Given the description of an element on the screen output the (x, y) to click on. 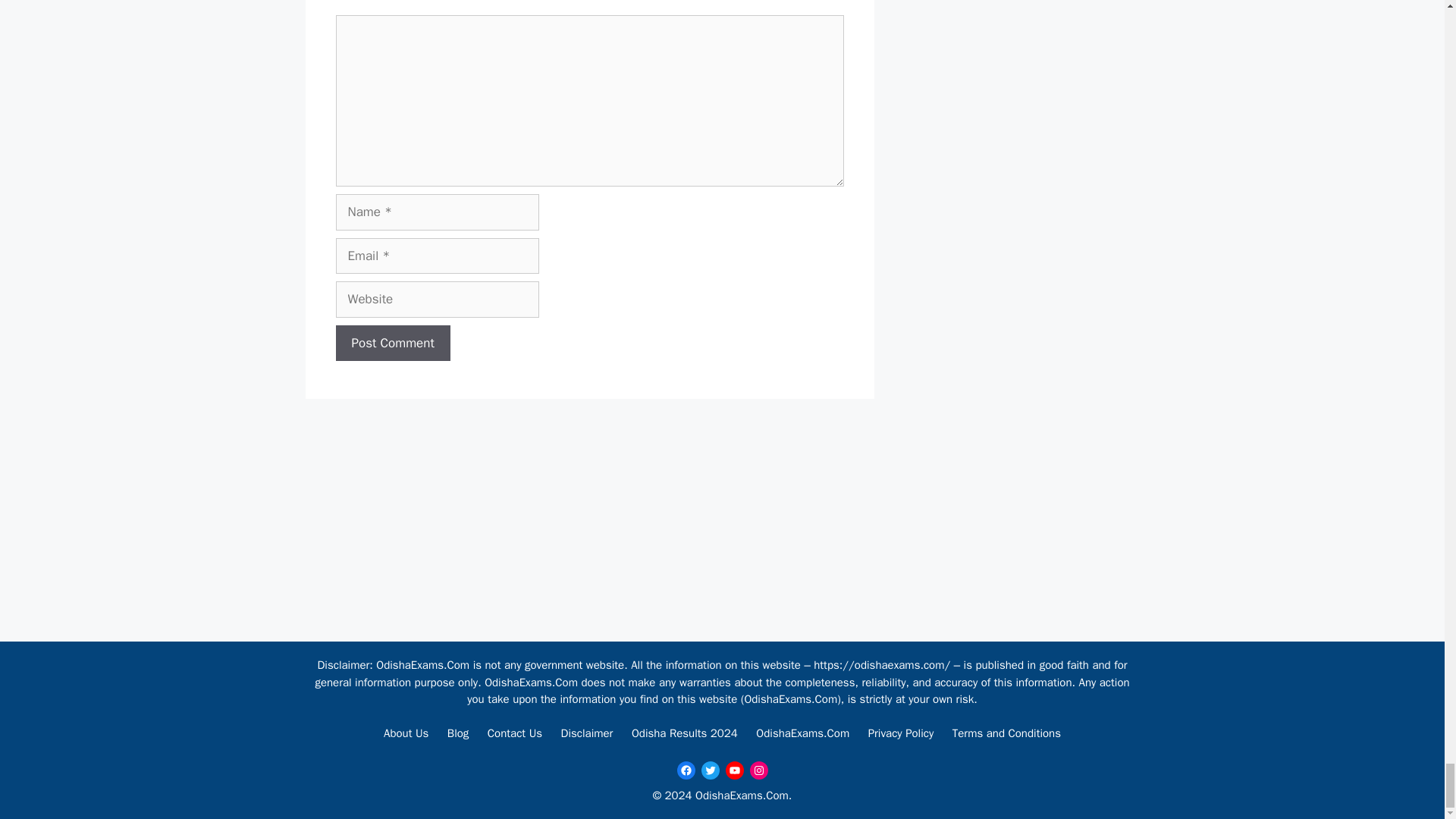
Post Comment (391, 343)
